Given the description of an element on the screen output the (x, y) to click on. 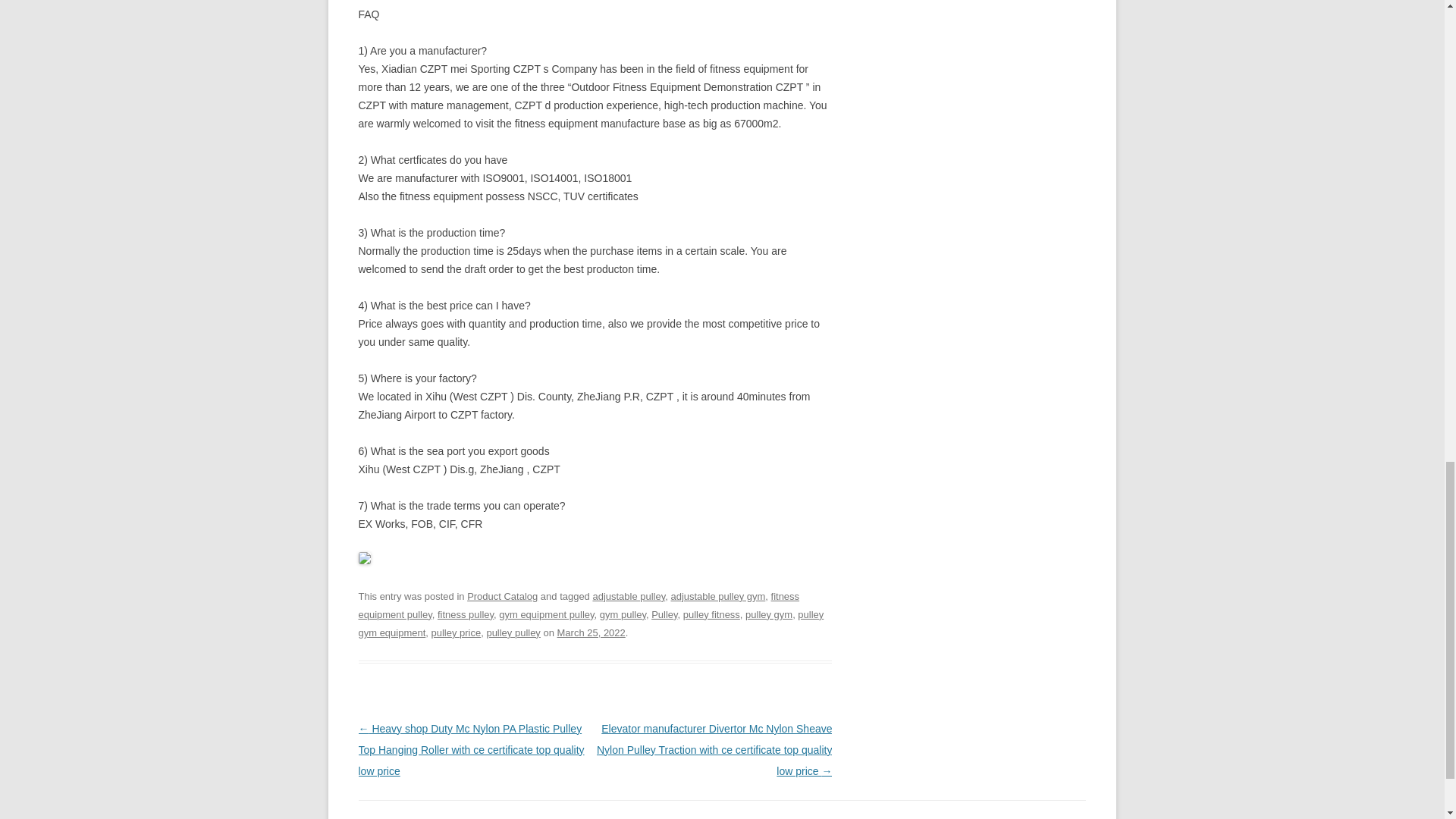
adjustable pulley gym (717, 595)
March 25, 2022 (591, 632)
pulley pulley (513, 632)
gym pulley (622, 614)
Pulley (663, 614)
gym equipment pulley (546, 614)
fitness pulley (465, 614)
Product Catalog (502, 595)
pulley gym equipment (591, 623)
adjustable pulley (628, 595)
